Given the description of an element on the screen output the (x, y) to click on. 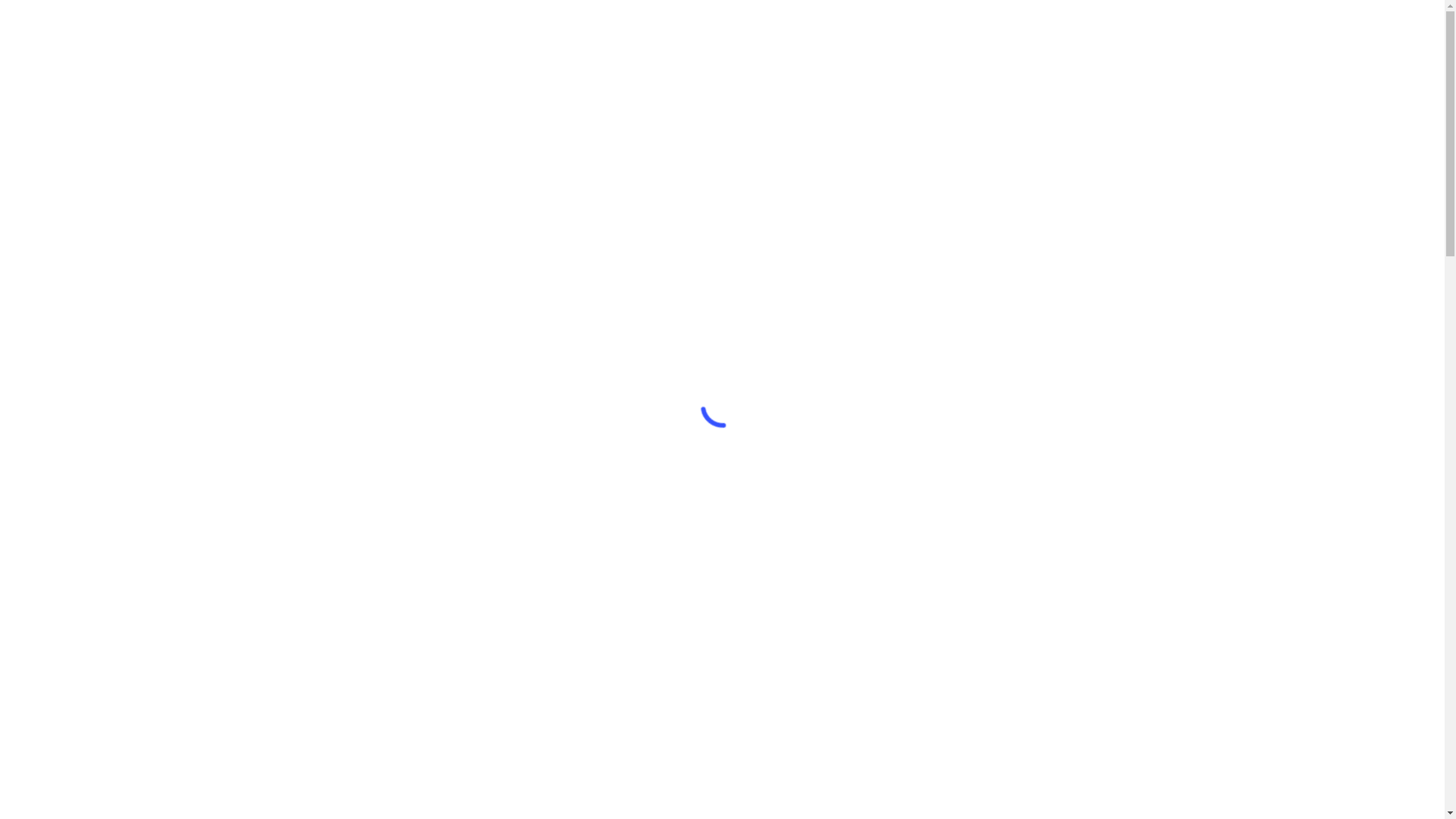
View on Amazon Element type: text (994, 643)
Linkedin Element type: text (1159, 48)
Menu Element type: text (1209, 48)
